Given the description of an element on the screen output the (x, y) to click on. 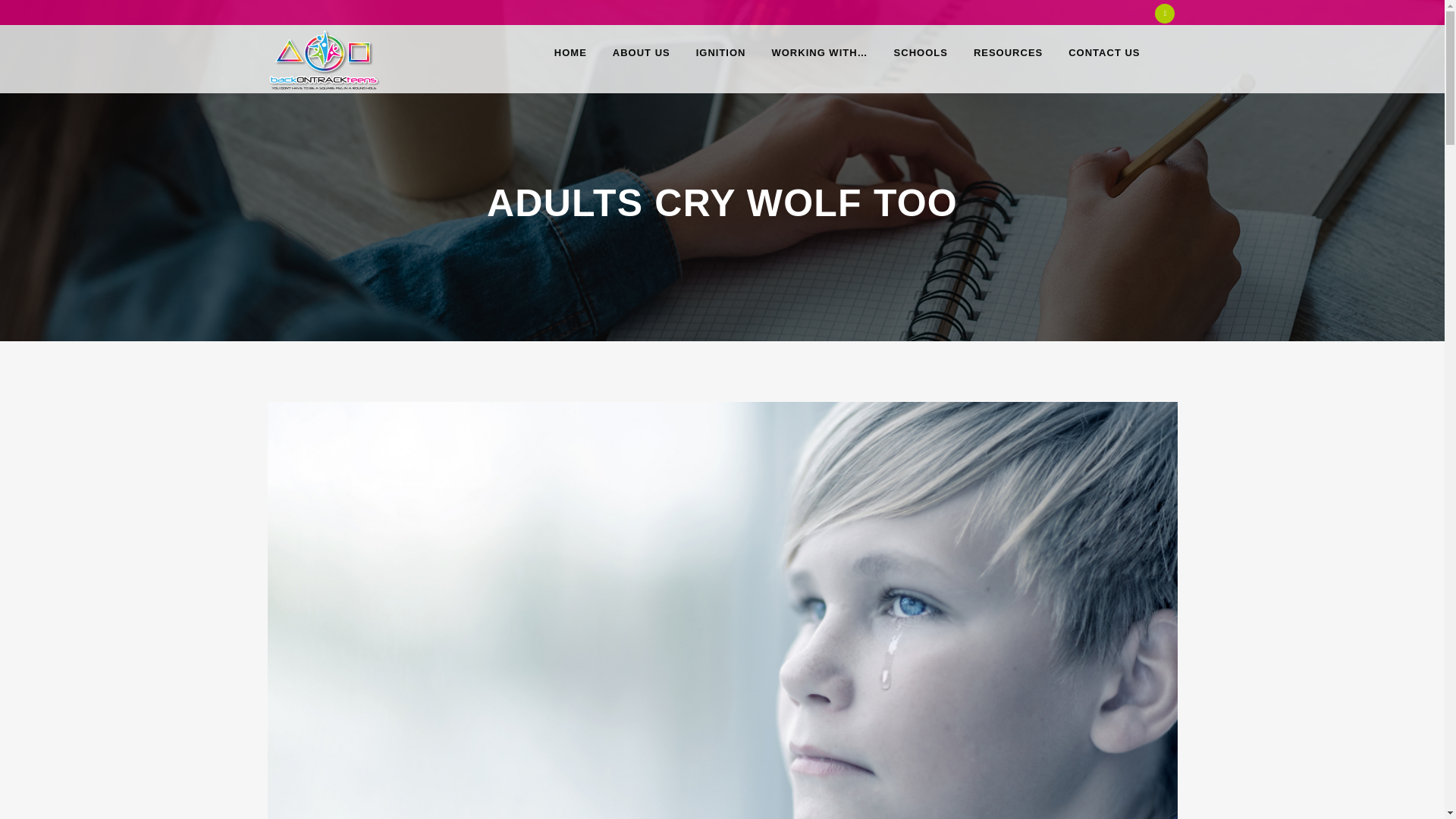
CONTACT US (1104, 52)
SCHOOLS (920, 52)
RESOURCES (1007, 52)
ABOUT US (640, 52)
IGNITION (720, 52)
